Given the description of an element on the screen output the (x, y) to click on. 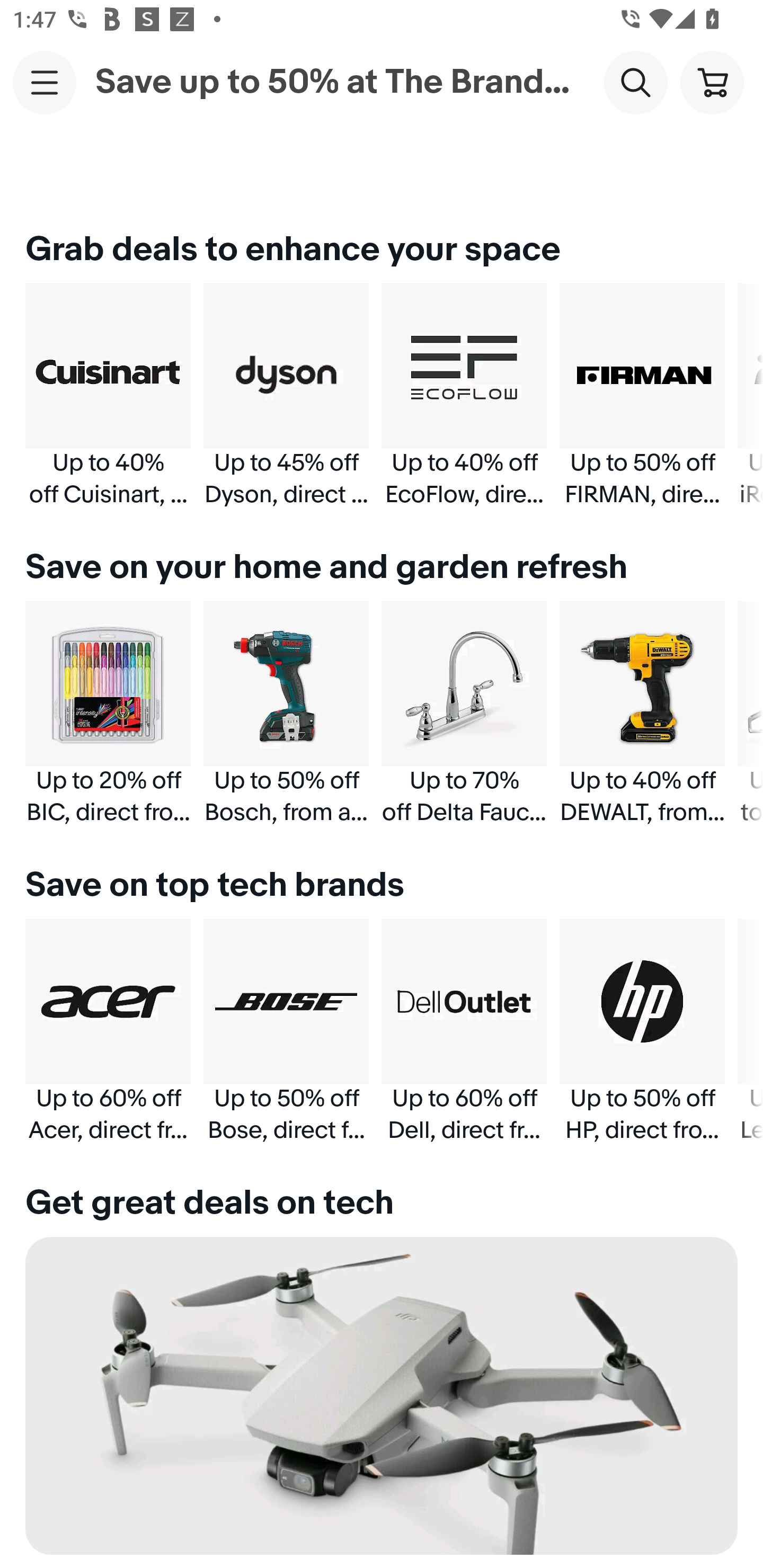
Main navigation, open (44, 82)
Search (635, 81)
Cart button shopping cart (711, 81)
Up to 40% off Cuisinart, direct from the brand (107, 395)
Up to 45% off Dyson, direct from the brand (285, 395)
Up to 40% off EcoFlow, direct from the brand (464, 395)
Up to 50% off FIRMAN, direct from the seller (641, 395)
Up to 20% off BIC, direct from the brand (107, 713)
Up to 50% off Bosch, from an authorized seller (285, 713)
Up to 40% off DEWALT, from an authorized reseller (641, 713)
Up to 60% off Acer, direct from the brand (107, 1031)
Up to 50% off Bose, direct from the brand (285, 1031)
Up to 60% off Dell, direct from the brand (464, 1031)
Up to 50% off HP, direct from the brand (641, 1031)
Up to 40% off DJI (381, 1402)
